Given the description of an element on the screen output the (x, y) to click on. 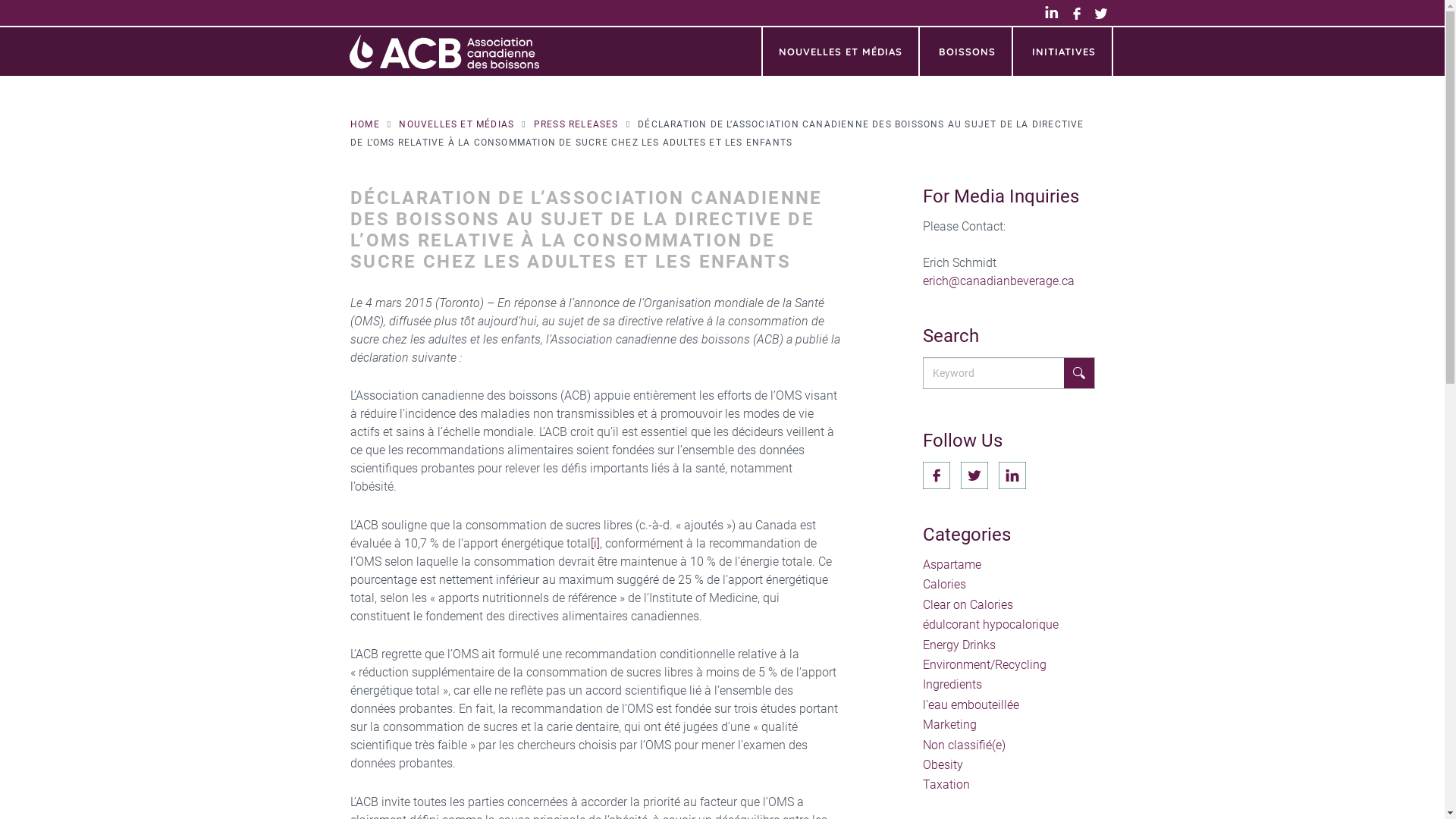
Calories Element type: text (944, 584)
  Element type: text (1012, 475)
Follow us on Twitter Element type: hover (974, 475)
Energy Drinks Element type: text (958, 644)
BOISSONS Element type: text (966, 51)
Marketing Element type: text (949, 724)
TWITTER Element type: text (1106, 13)
Follow us on Facebook Element type: hover (936, 475)
[i] Element type: text (594, 543)
LINKEDIN Element type: text (1058, 13)
FACEBOOK Element type: text (1082, 13)
  Element type: text (936, 475)
erich@canadianbeverage.ca Element type: text (998, 280)
Aspartame Element type: text (951, 564)
Taxation Element type: text (945, 784)
HOME Element type: text (364, 123)
Ingredients Element type: text (952, 684)
Follow us on LinkedIn Element type: hover (1012, 475)
Search Element type: text (1078, 372)
PRESS RELEASES Element type: text (575, 123)
INITIATIVES Element type: text (1063, 51)
Clear on Calories Element type: text (967, 604)
Environment/Recycling Element type: text (984, 664)
Obesity Element type: text (942, 764)
  Element type: text (974, 475)
